Given the description of an element on the screen output the (x, y) to click on. 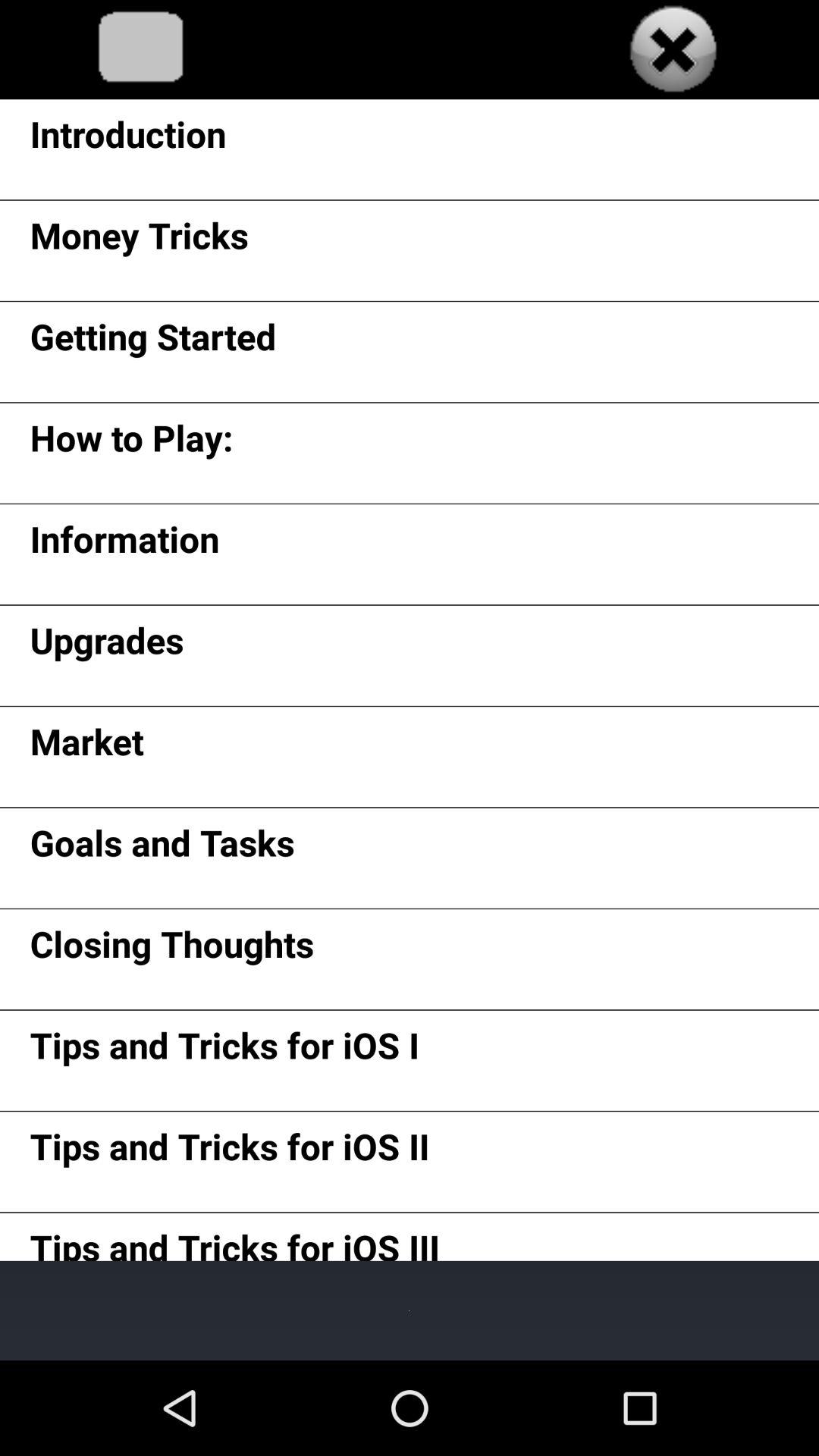
launch introduction icon (128, 139)
